Given the description of an element on the screen output the (x, y) to click on. 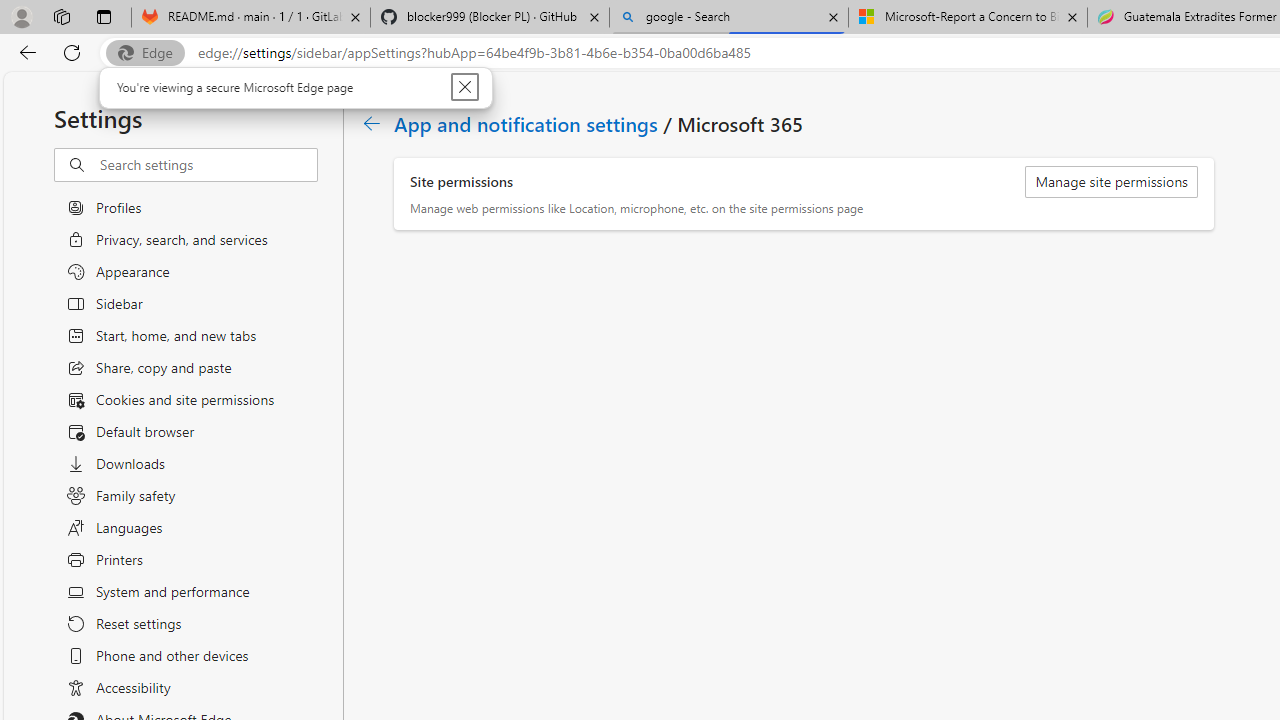
Manage site permissions (1111, 182)
Search settings (207, 165)
